Given the description of an element on the screen output the (x, y) to click on. 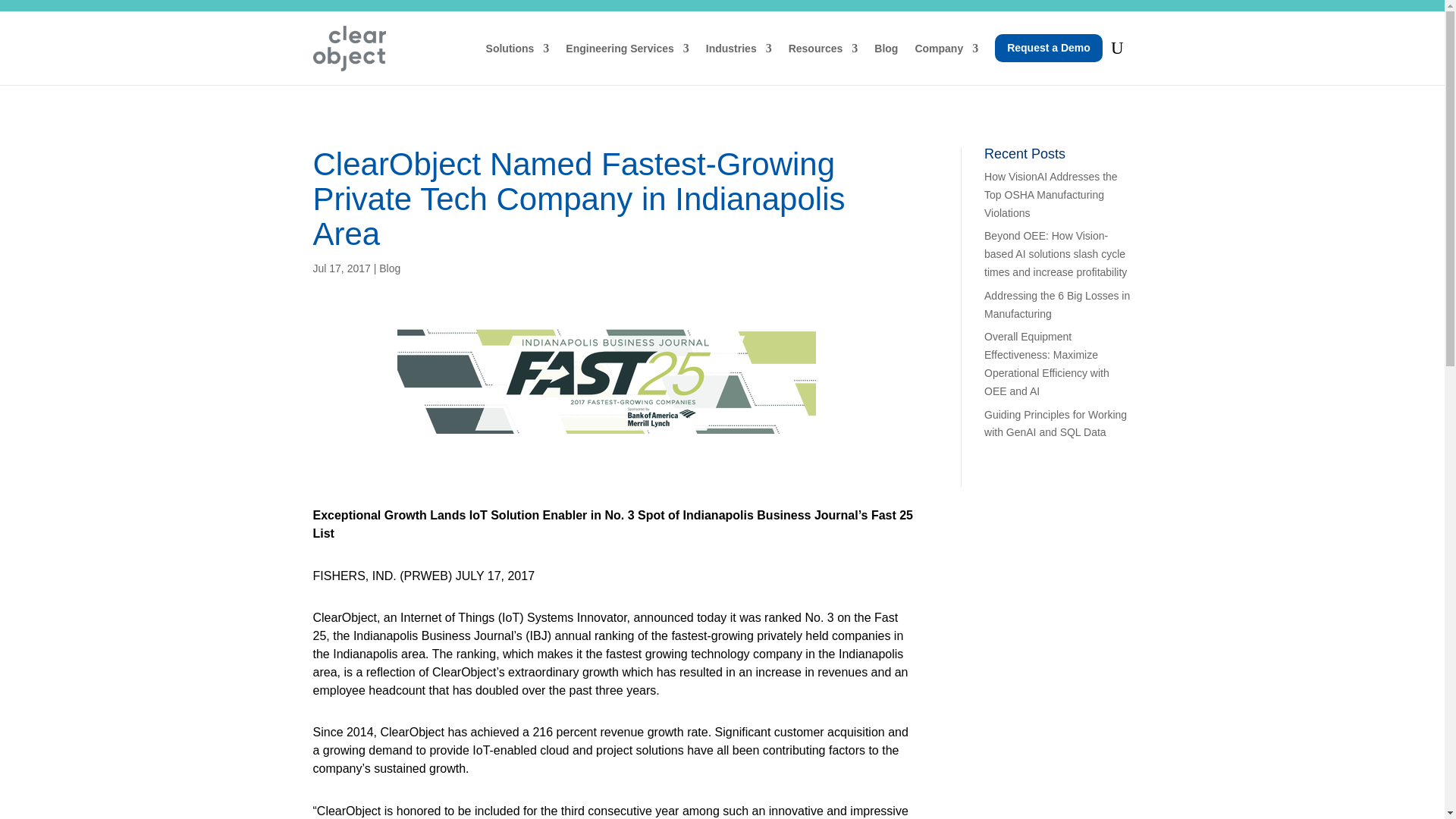
Blog (389, 268)
Request a Demo (1048, 48)
Industries (738, 48)
Resources (824, 48)
Engineering Services (627, 48)
How VisionAI Addresses the Top OSHA Manufacturing Violations (1051, 194)
